Given the description of an element on the screen output the (x, y) to click on. 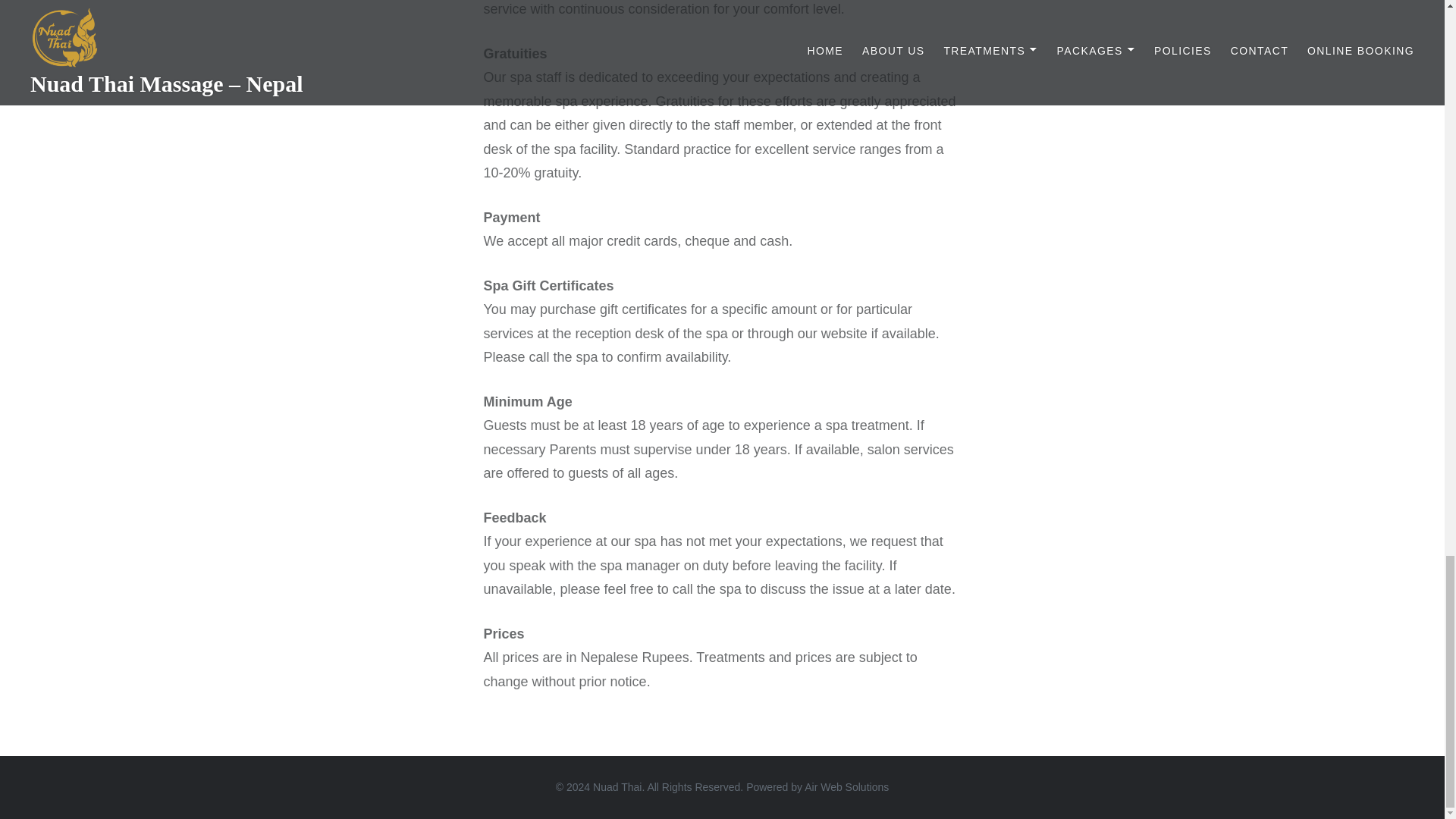
Air Web Solutions (846, 787)
